Given the description of an element on the screen output the (x, y) to click on. 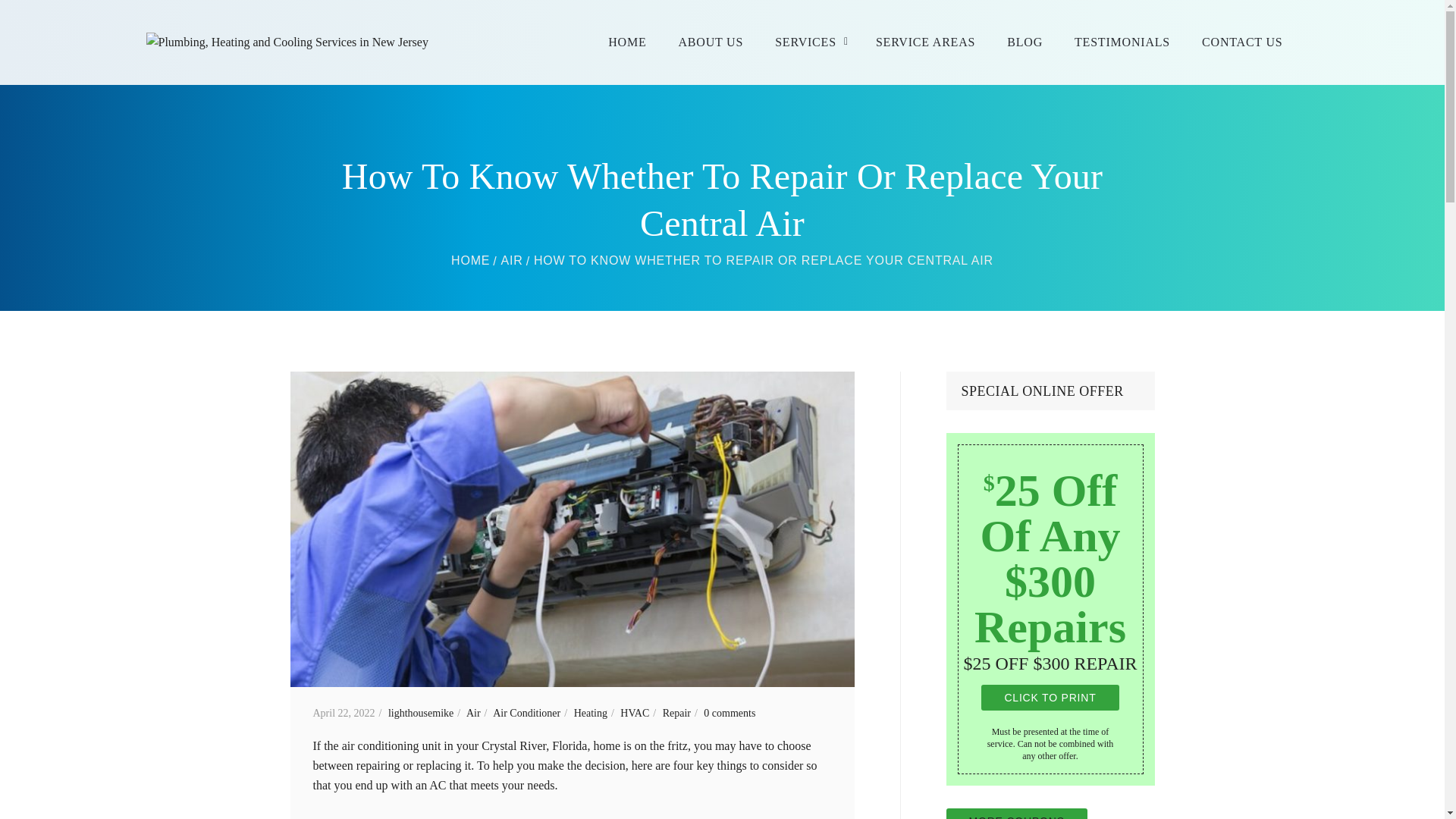
HOME (470, 259)
SERVICE AREAS (925, 41)
CONTACT US (1241, 41)
Heating (595, 713)
BLOG (1024, 41)
Repair (681, 713)
ABOUT US (710, 41)
Air Conditioner (531, 713)
AIR (511, 259)
HVAC (639, 713)
SERVICES (809, 41)
Plumbing, Heating and Cooling Services in New Jersey (470, 259)
0 comments (729, 713)
